Given the description of an element on the screen output the (x, y) to click on. 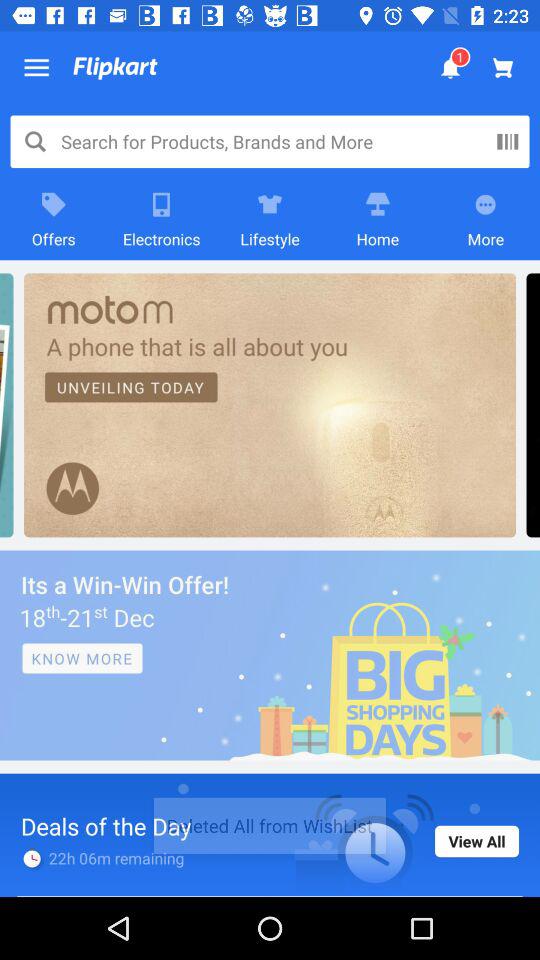
tap the icon above the deals of the (270, 655)
